Given the description of an element on the screen output the (x, y) to click on. 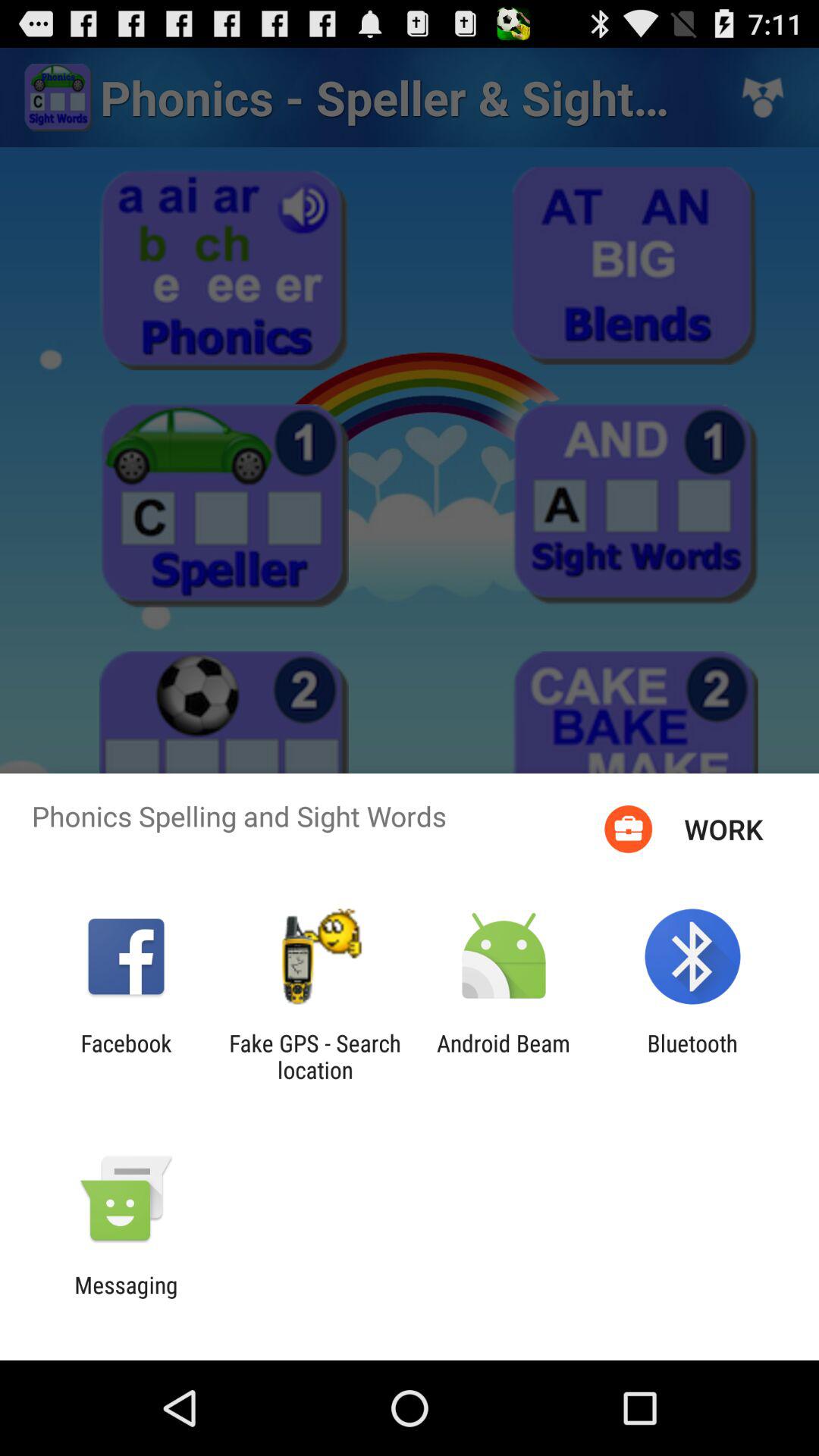
tap the item to the right of the facebook app (314, 1056)
